Given the description of an element on the screen output the (x, y) to click on. 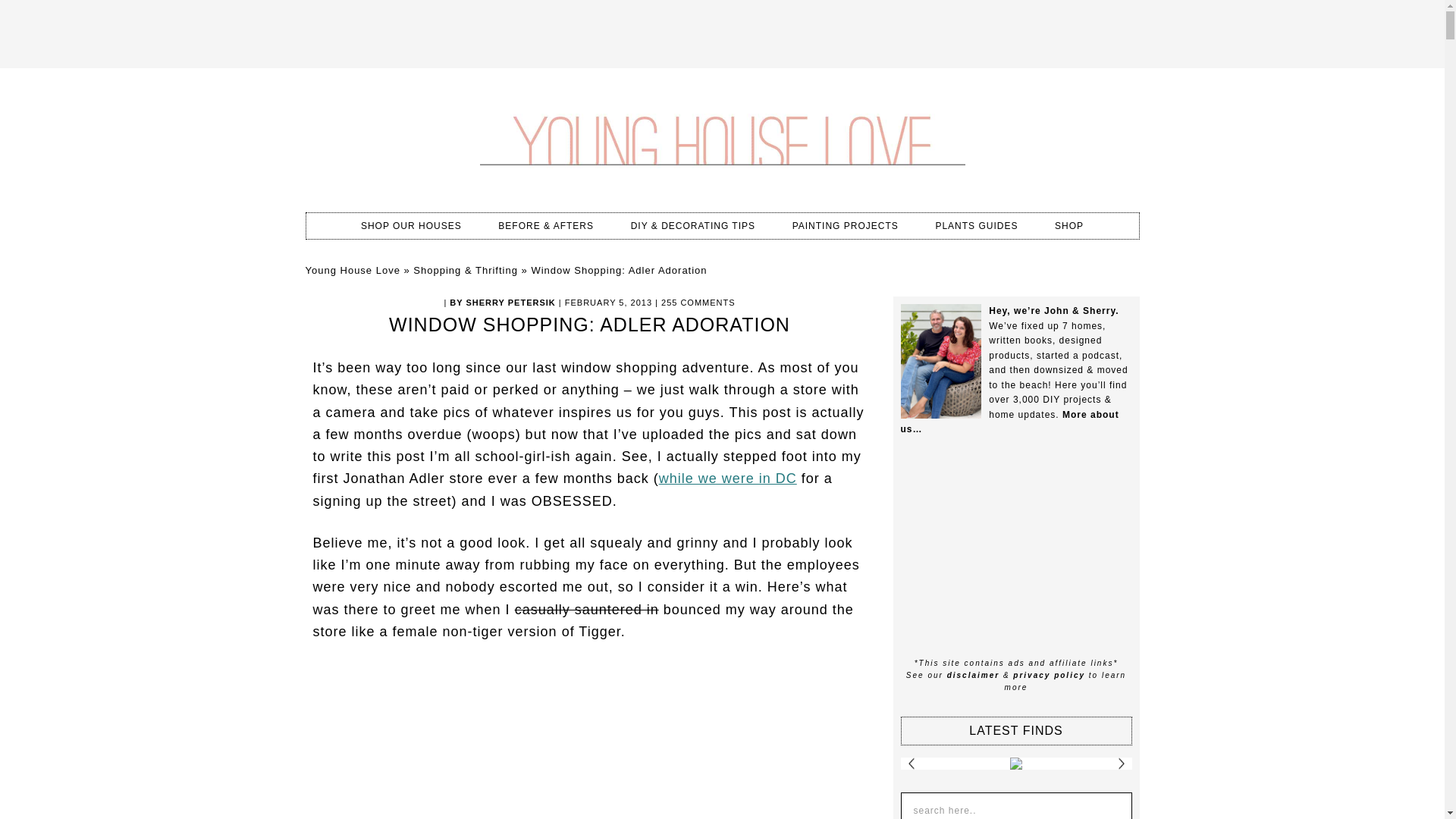
YOUNG HOUSE LOVE (721, 136)
while we were in DC (727, 478)
View Sources For Our Current Home (411, 225)
SHOP OUR HOUSES (411, 225)
SHERRY PETERSIK (509, 302)
PAINTING PROJECTS (845, 225)
Before and After Photos Of Our Homes (545, 225)
255 COMMENTS (698, 302)
PLANTS GUIDES (975, 225)
Young House Love (351, 270)
SHOP (1069, 225)
